Given the description of an element on the screen output the (x, y) to click on. 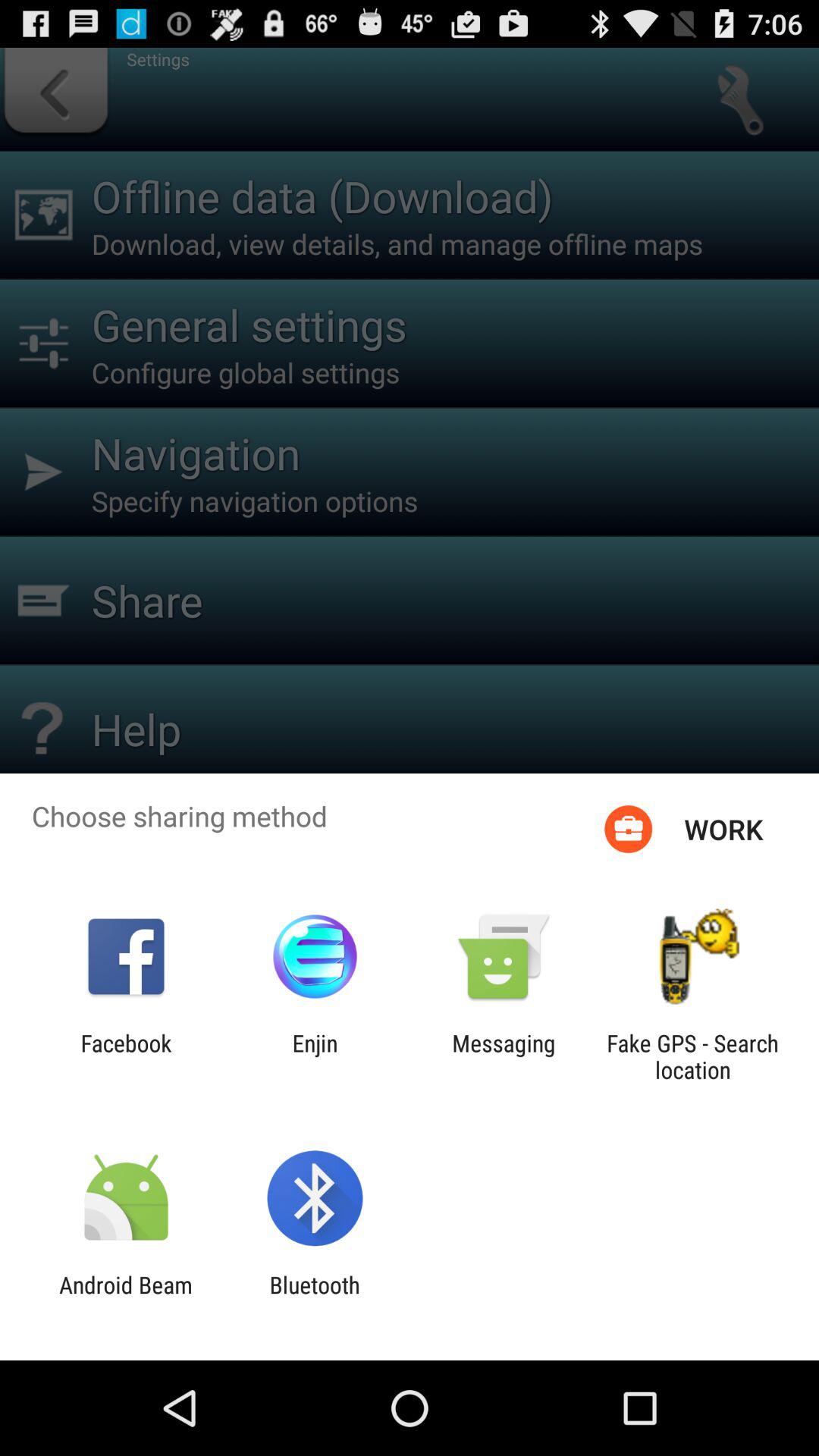
press the app next to the facebook item (314, 1056)
